Given the description of an element on the screen output the (x, y) to click on. 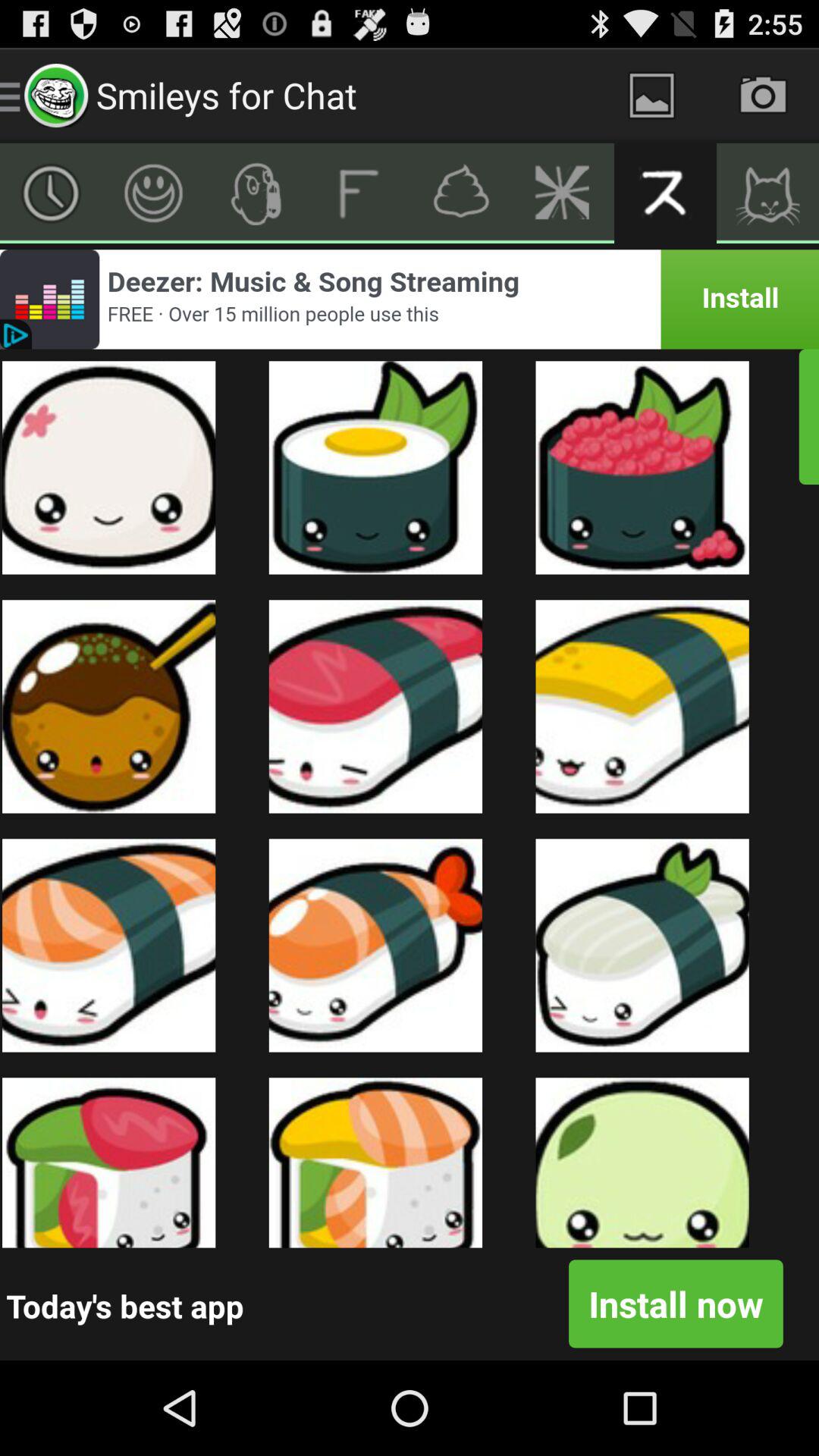
go to emoticons (153, 193)
